Given the description of an element on the screen output the (x, y) to click on. 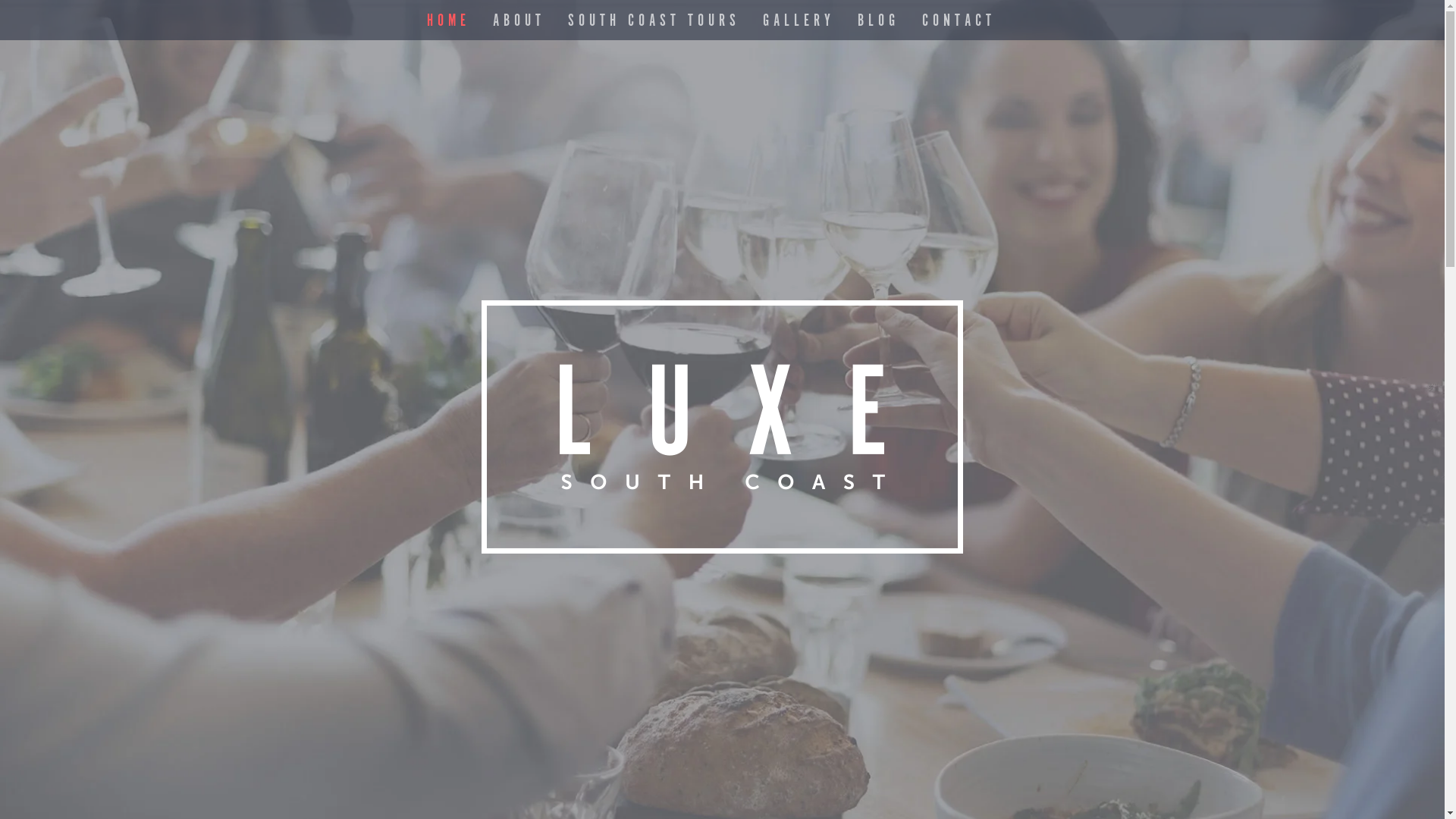
GALLERY Element type: text (798, 27)
HOME Element type: text (447, 27)
SOUTH COAST TOURS Element type: text (653, 27)
CONTACT Element type: text (958, 27)
BLOG Element type: text (877, 27)
ABOUT Element type: text (518, 27)
